Given the description of an element on the screen output the (x, y) to click on. 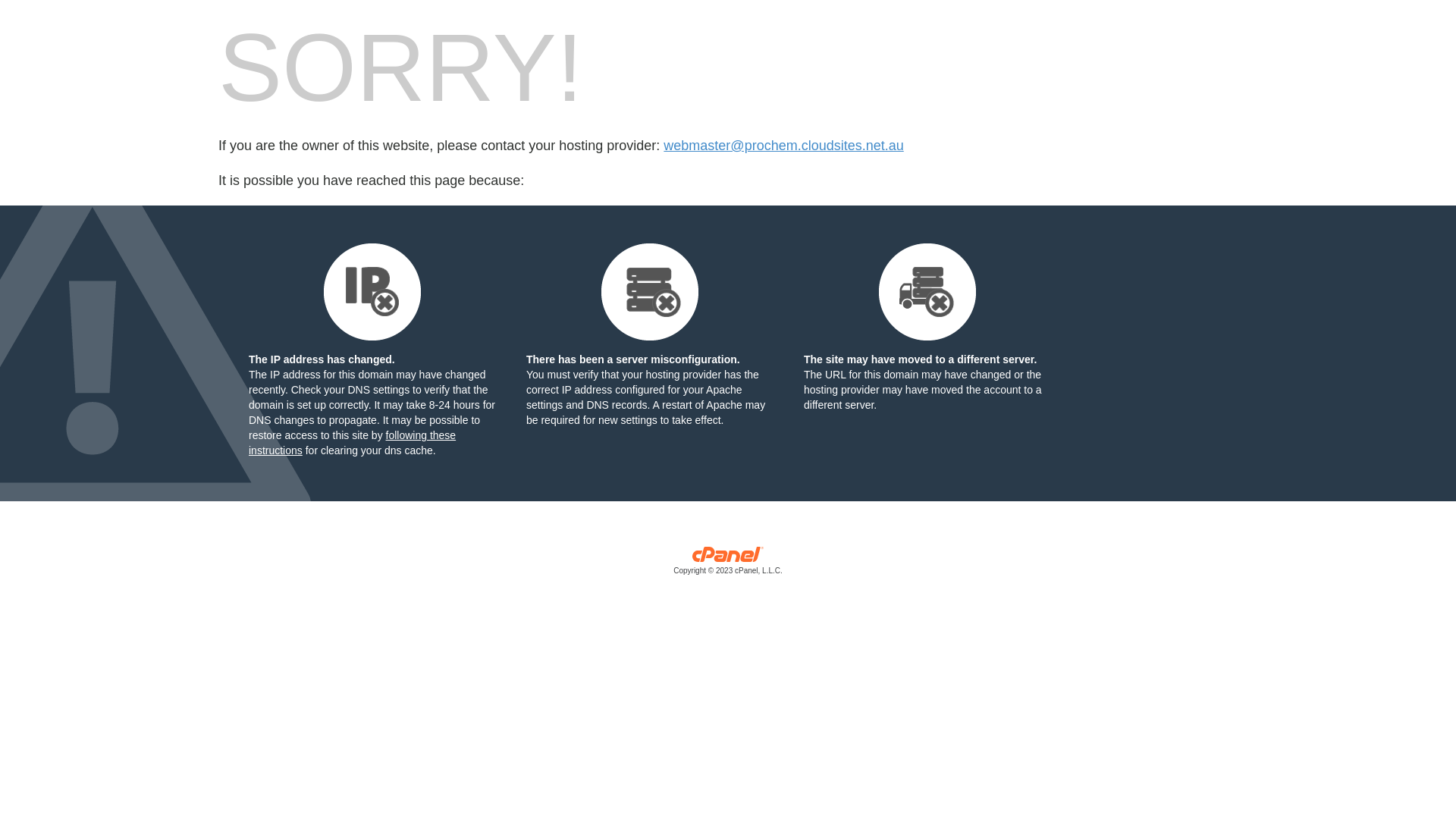
following these instructions Element type: text (351, 442)
webmaster@prochem.cloudsites.net.au Element type: text (783, 145)
